Given the description of an element on the screen output the (x, y) to click on. 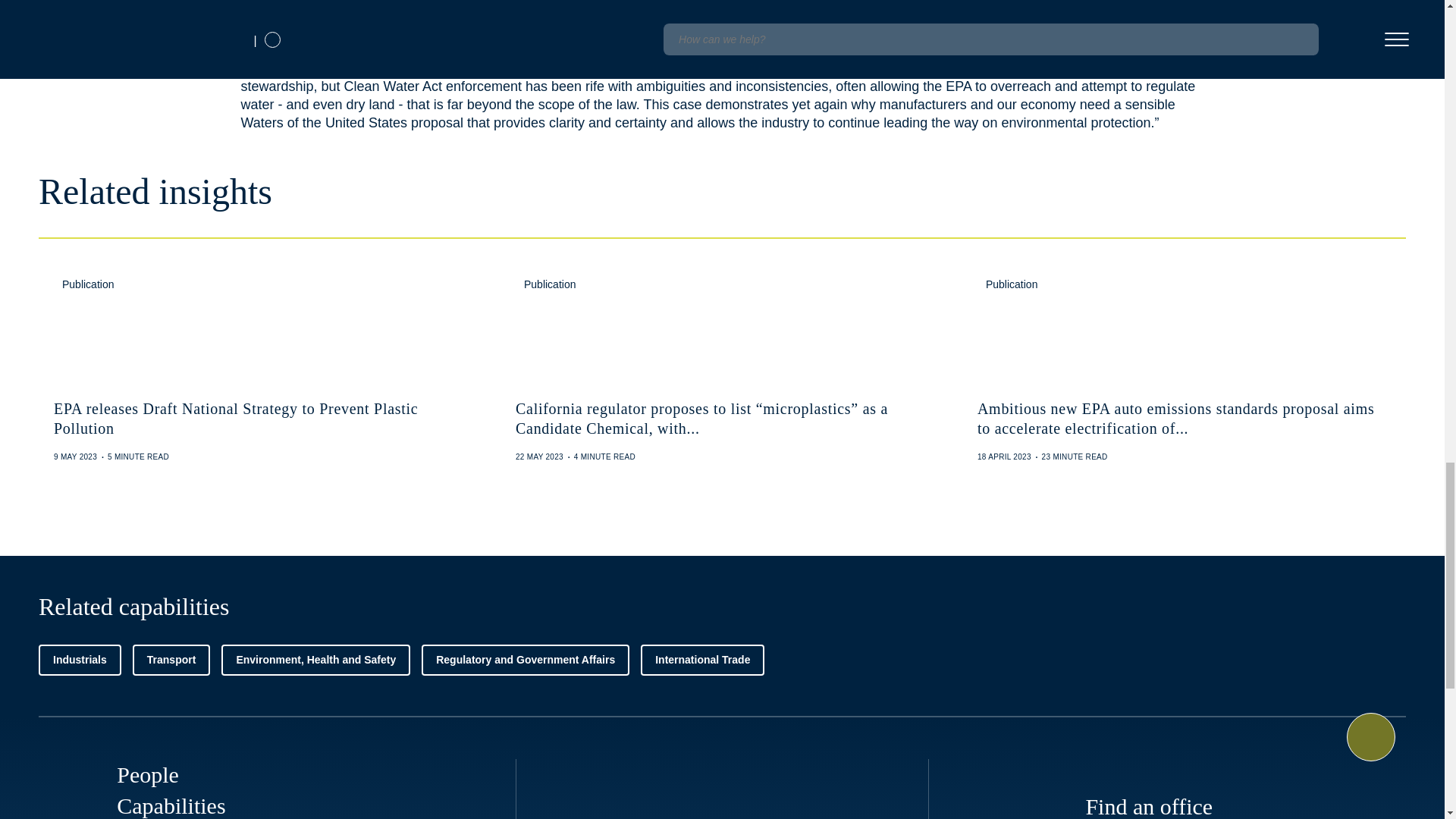
Environment, Health and Safety (315, 659)
Transport (171, 659)
Industrials (79, 659)
